Given the description of an element on the screen output the (x, y) to click on. 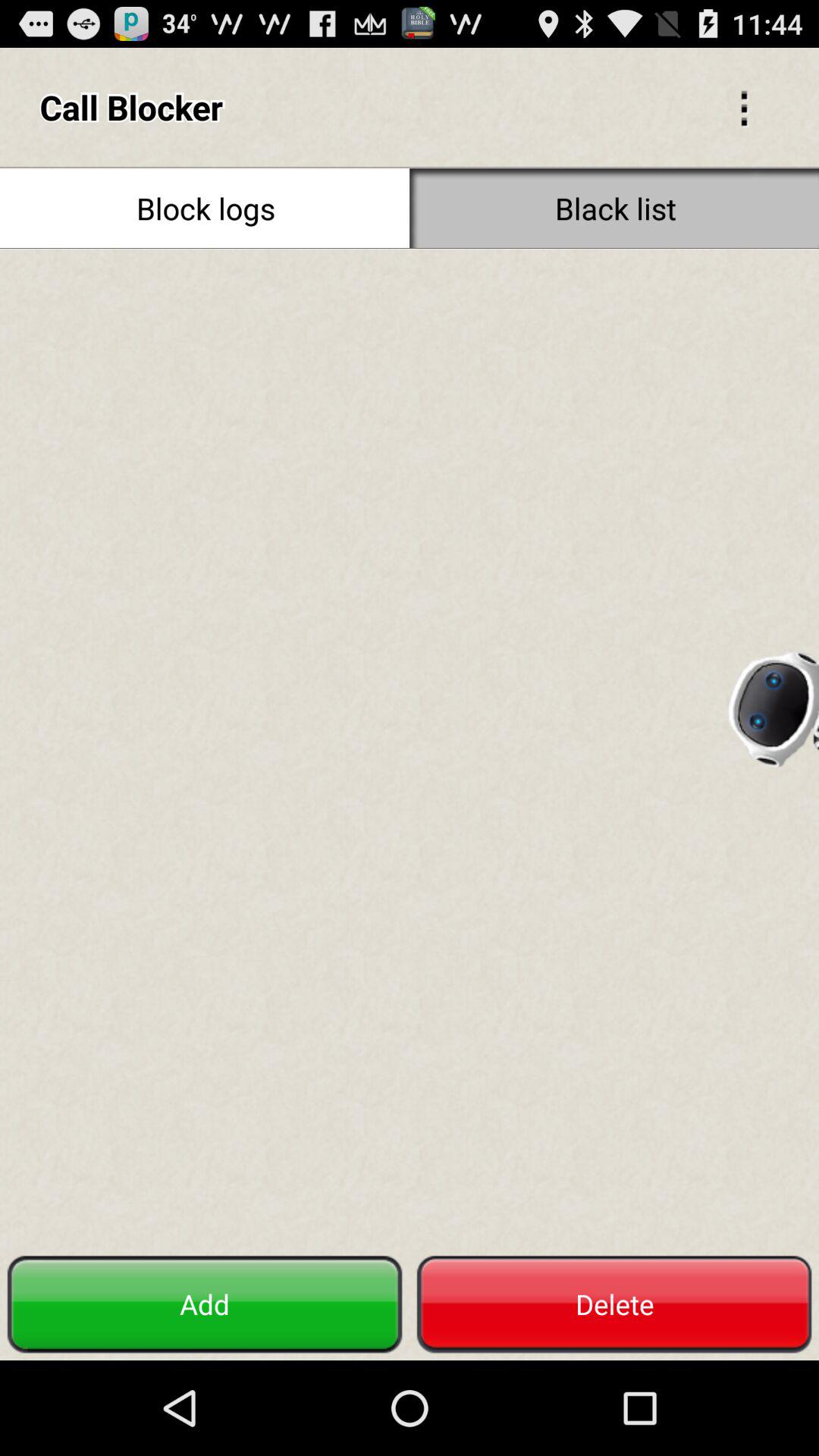
launch the add icon (204, 1304)
